Given the description of an element on the screen output the (x, y) to click on. 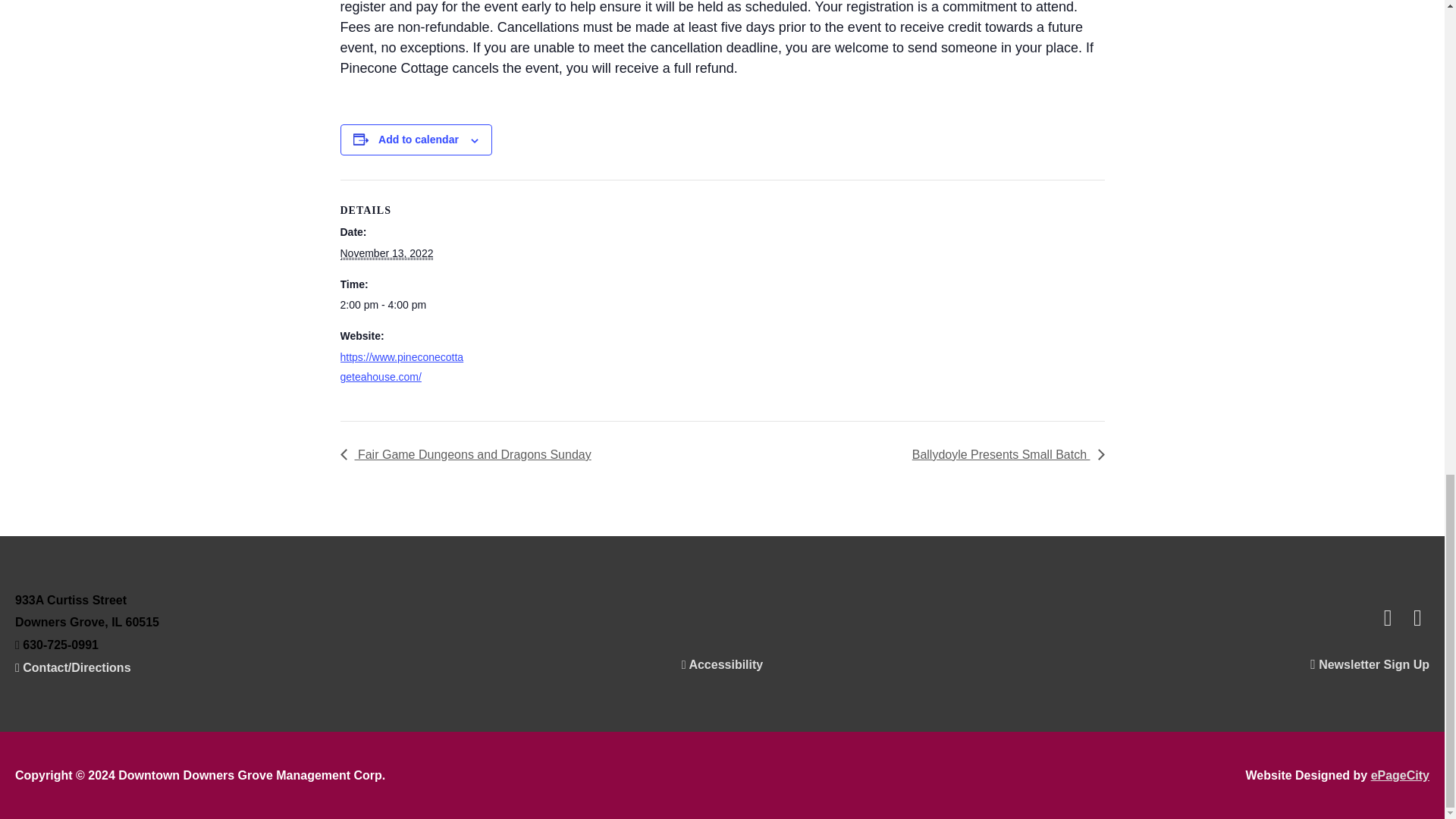
Ballydoyle Presents Small Batch (1004, 454)
2022-11-13 (403, 305)
Add to calendar (418, 139)
Accessibility (721, 664)
Fair Game Dungeons and Dragons Sunday (468, 454)
2022-11-13 (385, 253)
